Given the description of an element on the screen output the (x, y) to click on. 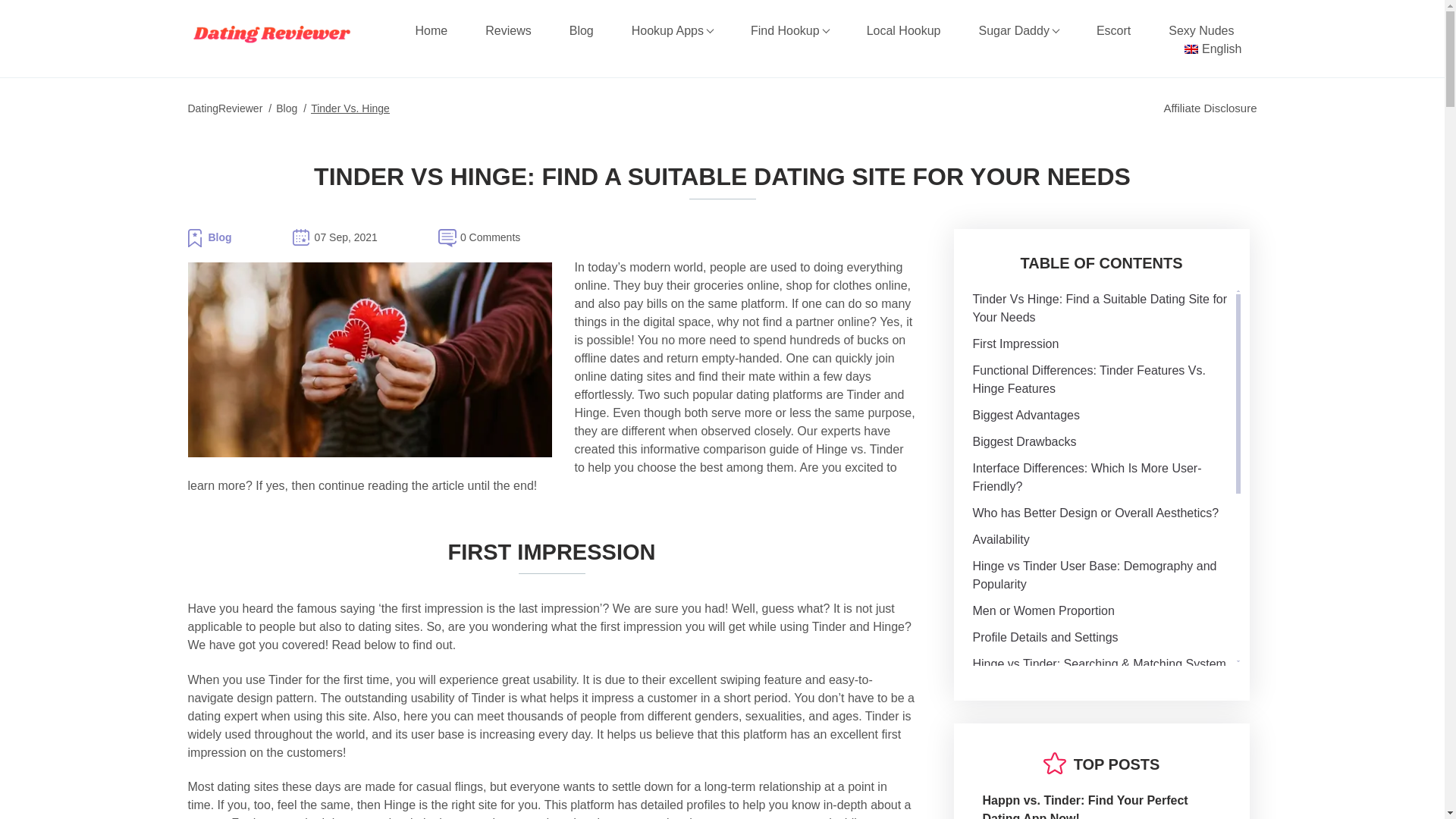
Escort (1113, 31)
Hookup Apps (671, 31)
Reviews (508, 31)
Hookup Apps (671, 31)
Blog (581, 31)
Sexy Nudes (1201, 31)
Home (431, 31)
DatingReviewer (225, 108)
Sugar Daddy (1017, 31)
Home (431, 31)
English (1212, 49)
Reviews (508, 31)
Find Hookup (789, 31)
Find Hookup (789, 31)
datingreviewer.net (271, 33)
